Given the description of an element on the screen output the (x, y) to click on. 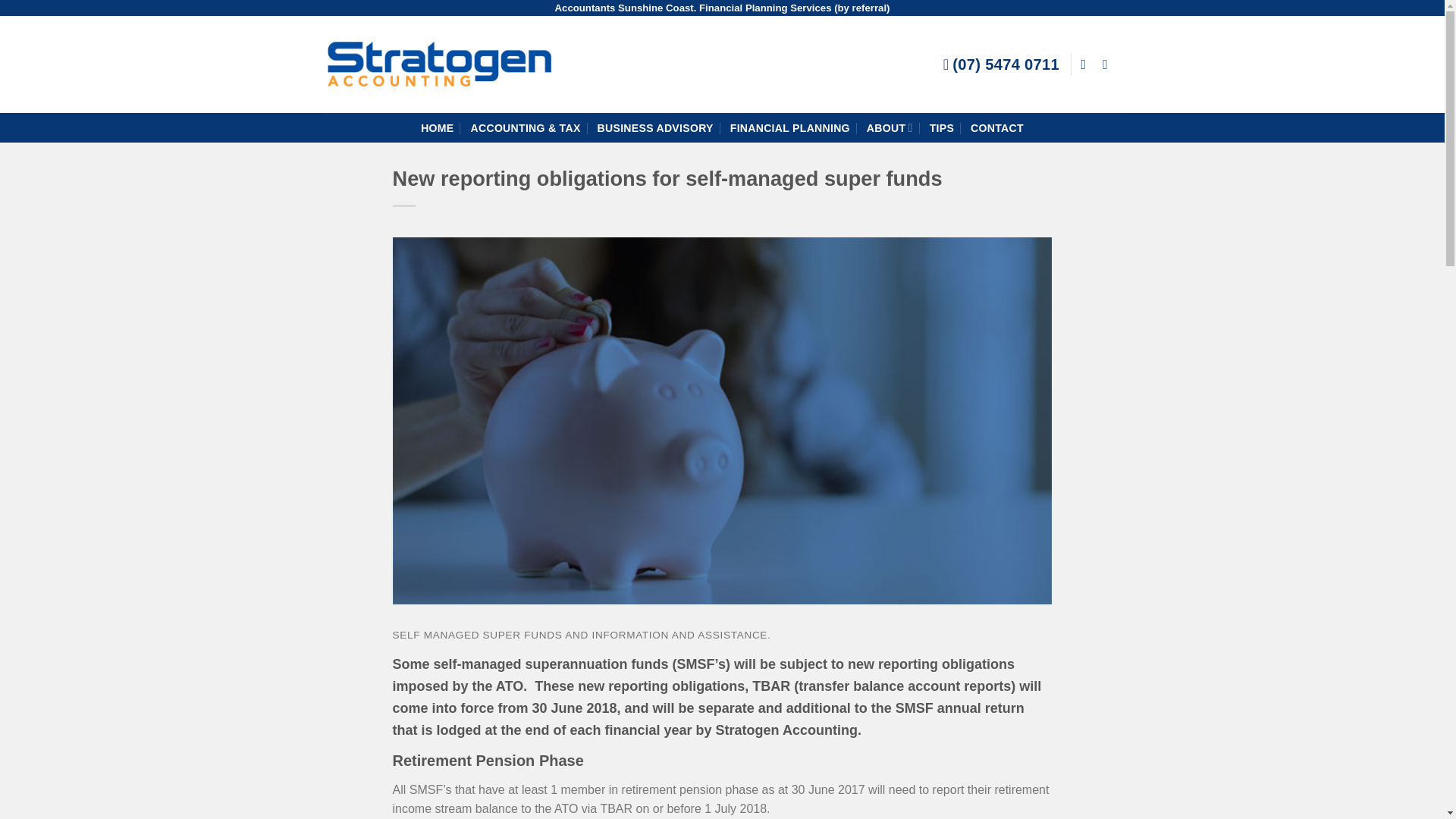
TIPS (941, 127)
Follow on Facebook (1087, 64)
ABOUT (889, 127)
FINANCIAL PLANNING (790, 127)
BUSINESS ADVISORY (654, 127)
HOME (436, 127)
Send us an email (1109, 64)
CONTACT (997, 127)
